Given the description of an element on the screen output the (x, y) to click on. 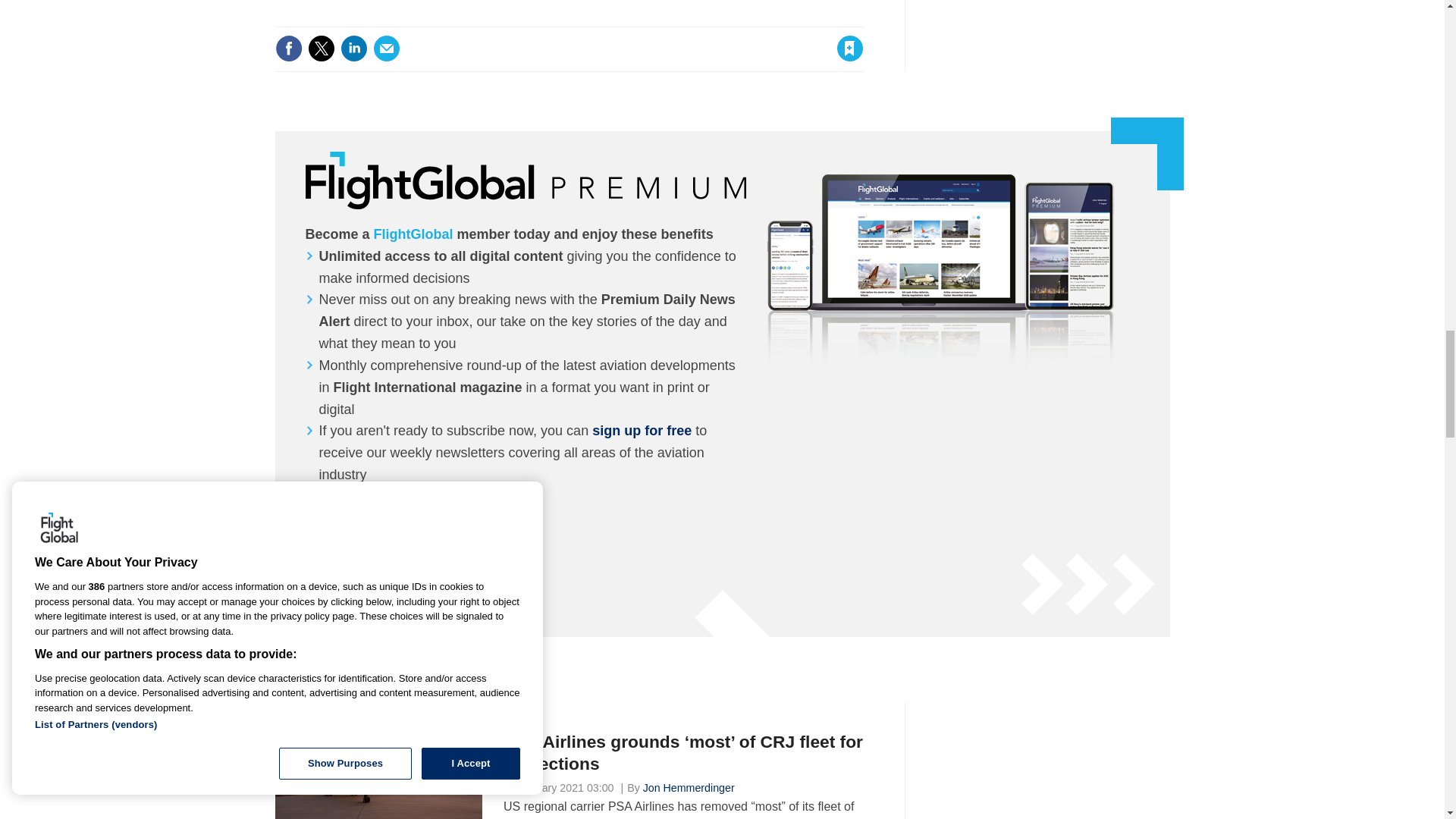
Share this on Twitter (320, 48)
Share this on Linked in (352, 48)
Email this article (386, 48)
Share this on Facebook (288, 48)
